Given the description of an element on the screen output the (x, y) to click on. 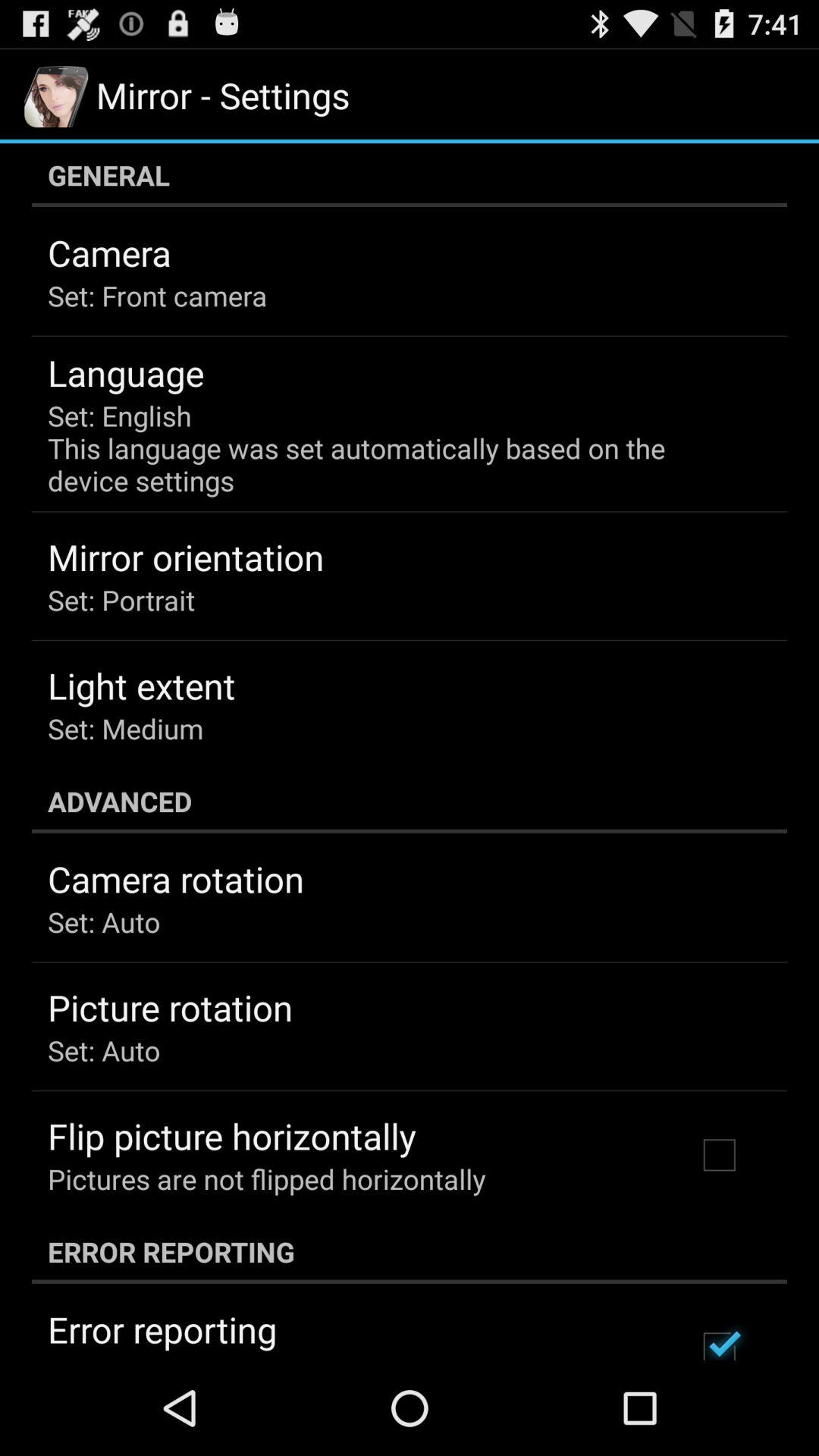
click app above camera rotation (409, 801)
